Given the description of an element on the screen output the (x, y) to click on. 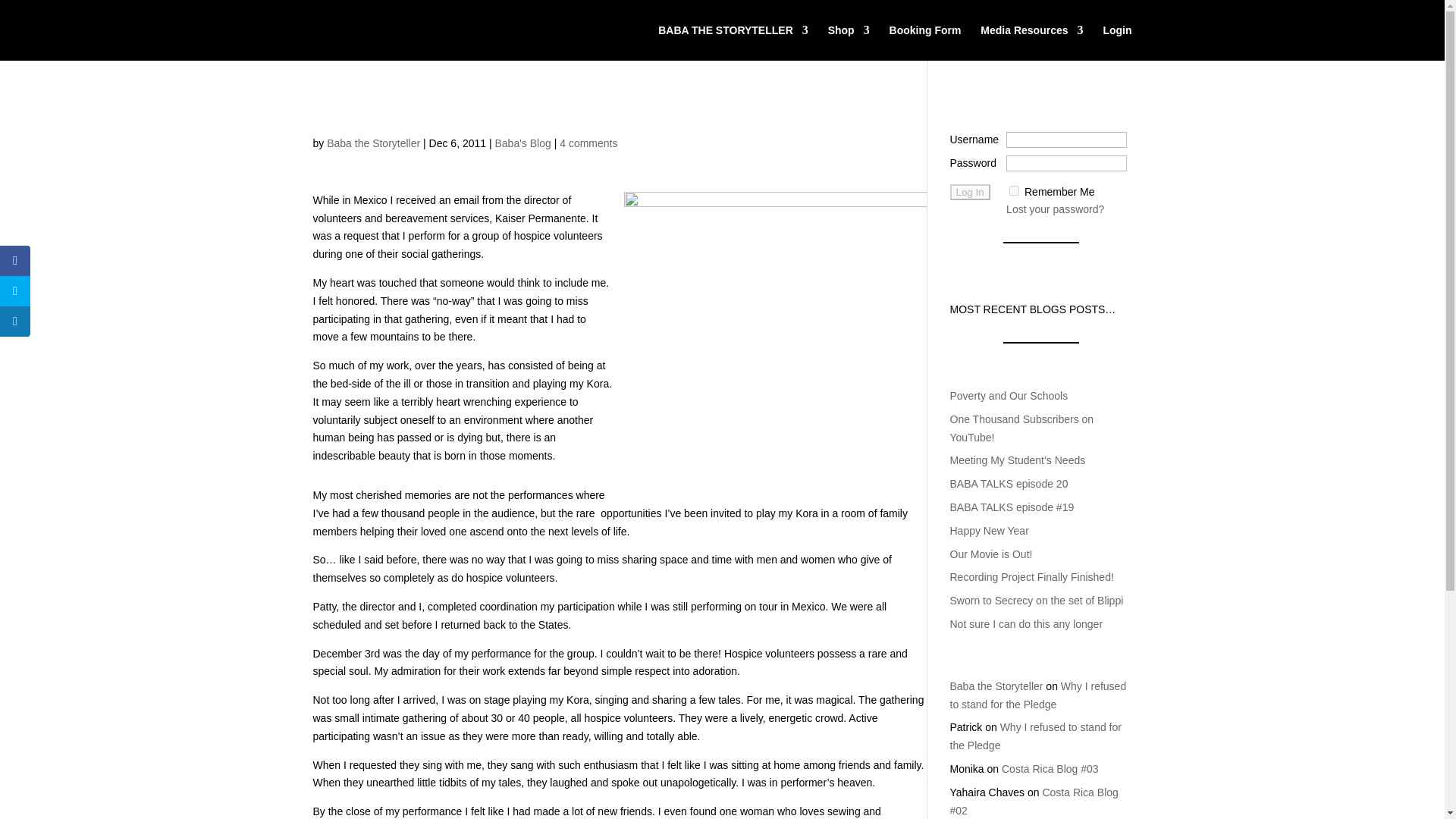
Baba's Blog (522, 143)
Recording Project Finally Finished! (1031, 576)
Our Movie is Out! (990, 553)
One Thousand Subscribers on YouTube! (1021, 428)
Booking Form (924, 42)
BABA TALKS episode 20 (1008, 483)
Log In (969, 191)
Log In (969, 191)
Lost your password? (1054, 209)
Poverty and Our Schools (1008, 395)
